Given the description of an element on the screen output the (x, y) to click on. 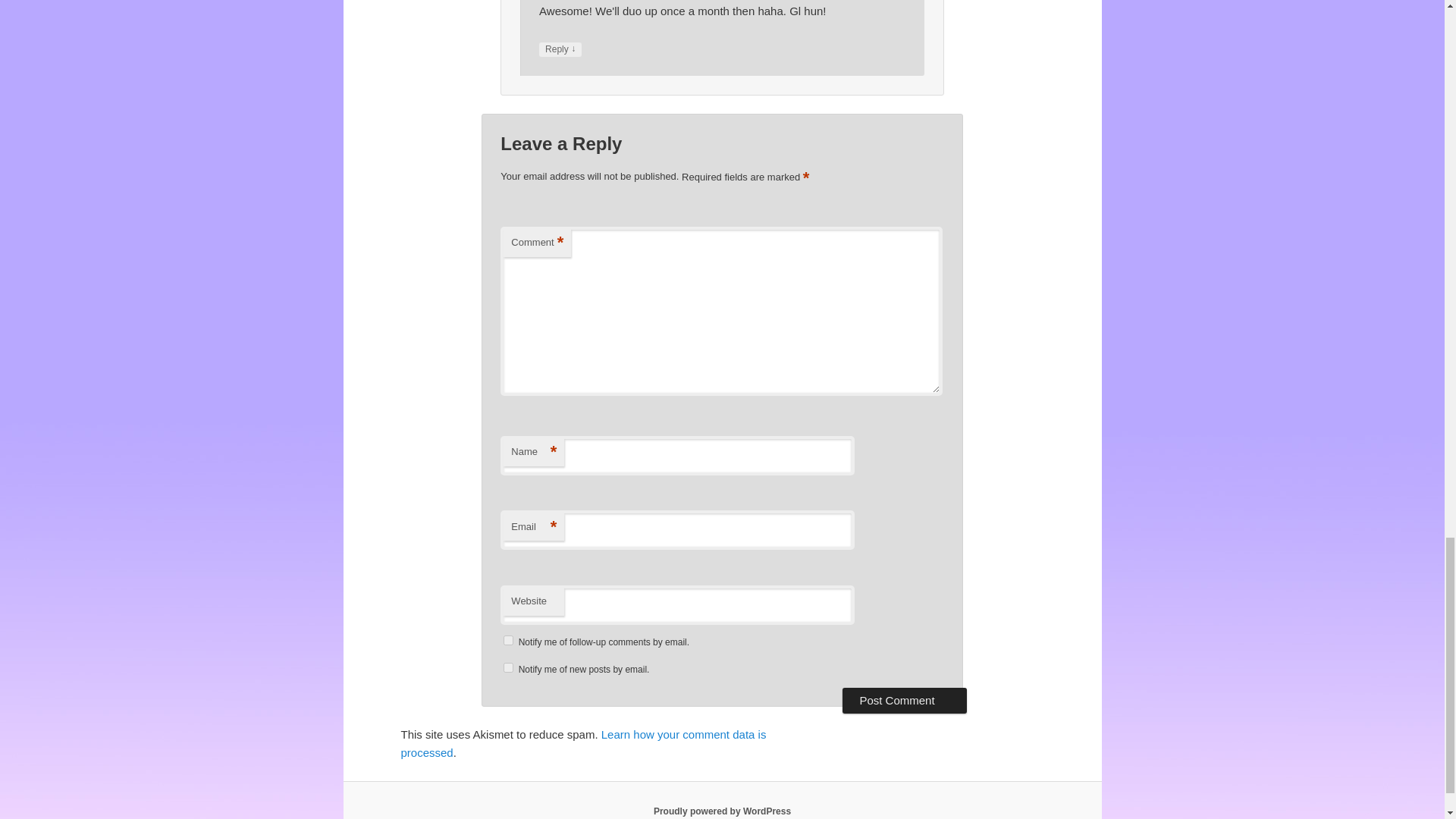
subscribe (508, 640)
Semantic Personal Publishing Platform (721, 810)
Post Comment (904, 700)
Proudly powered by WordPress (721, 810)
subscribe (508, 667)
Post Comment (904, 700)
Learn how your comment data is processed (582, 743)
